Given the description of an element on the screen output the (x, y) to click on. 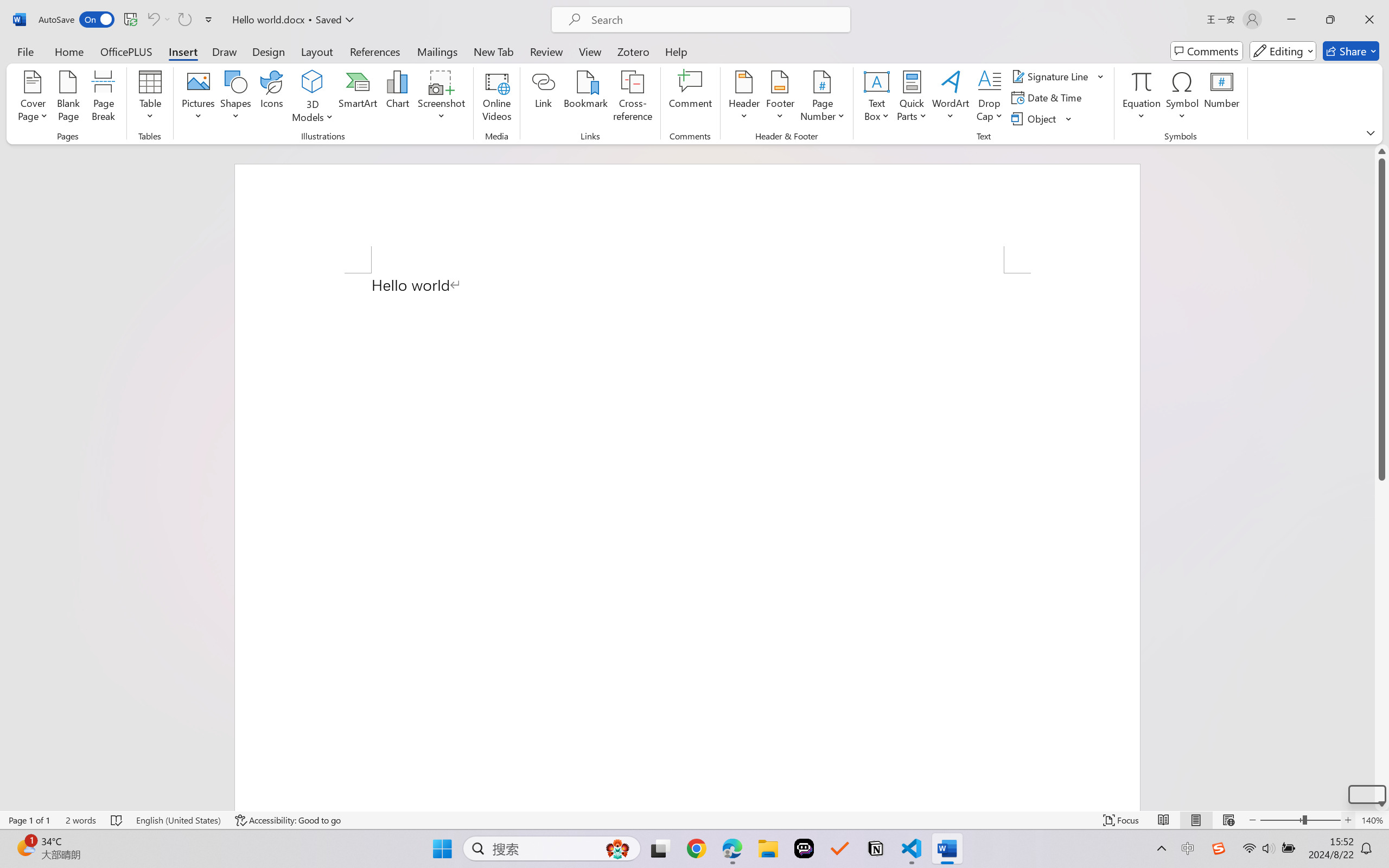
Class: MsoCommandBar (694, 819)
OfficePLUS (126, 51)
Spelling and Grammar Check No Errors (117, 819)
Share (1350, 51)
Shapes (235, 97)
AutomationID: BadgeAnchorLargeTicker (24, 847)
Class: NetUIScrollBar (1382, 477)
Cover Page (33, 97)
Design (268, 51)
Can't Undo (158, 19)
Object... (1042, 118)
SmartArt... (358, 97)
View (589, 51)
Header (743, 97)
Can't Undo (152, 19)
